Given the description of an element on the screen output the (x, y) to click on. 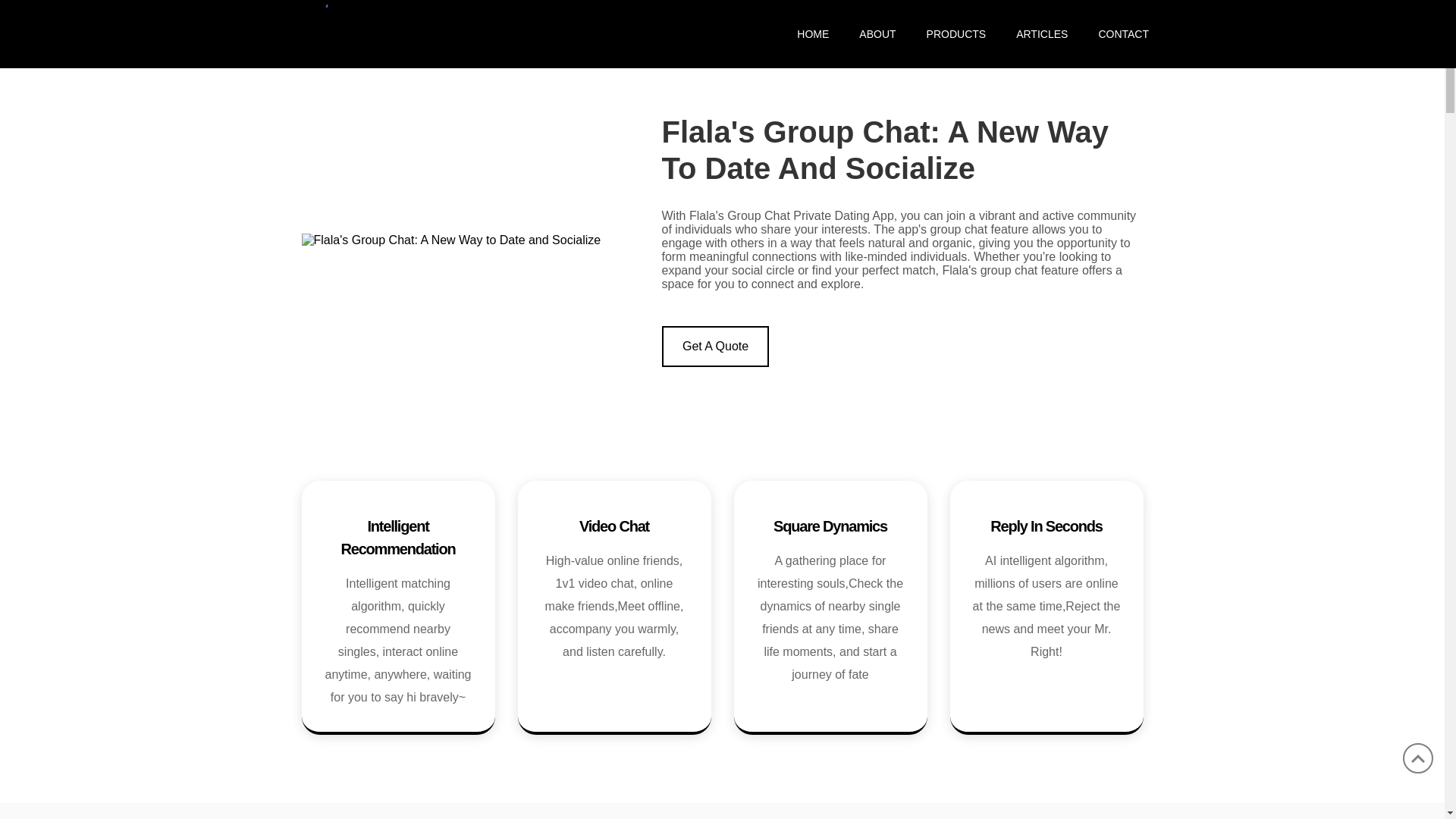
Get A Quote (714, 345)
PRODUCTS (956, 33)
ABOUT (877, 33)
Back To Home (413, 32)
Get A Quote (714, 345)
CONTACT (1115, 33)
ARTICLES (1042, 33)
HOME (812, 33)
